Given the description of an element on the screen output the (x, y) to click on. 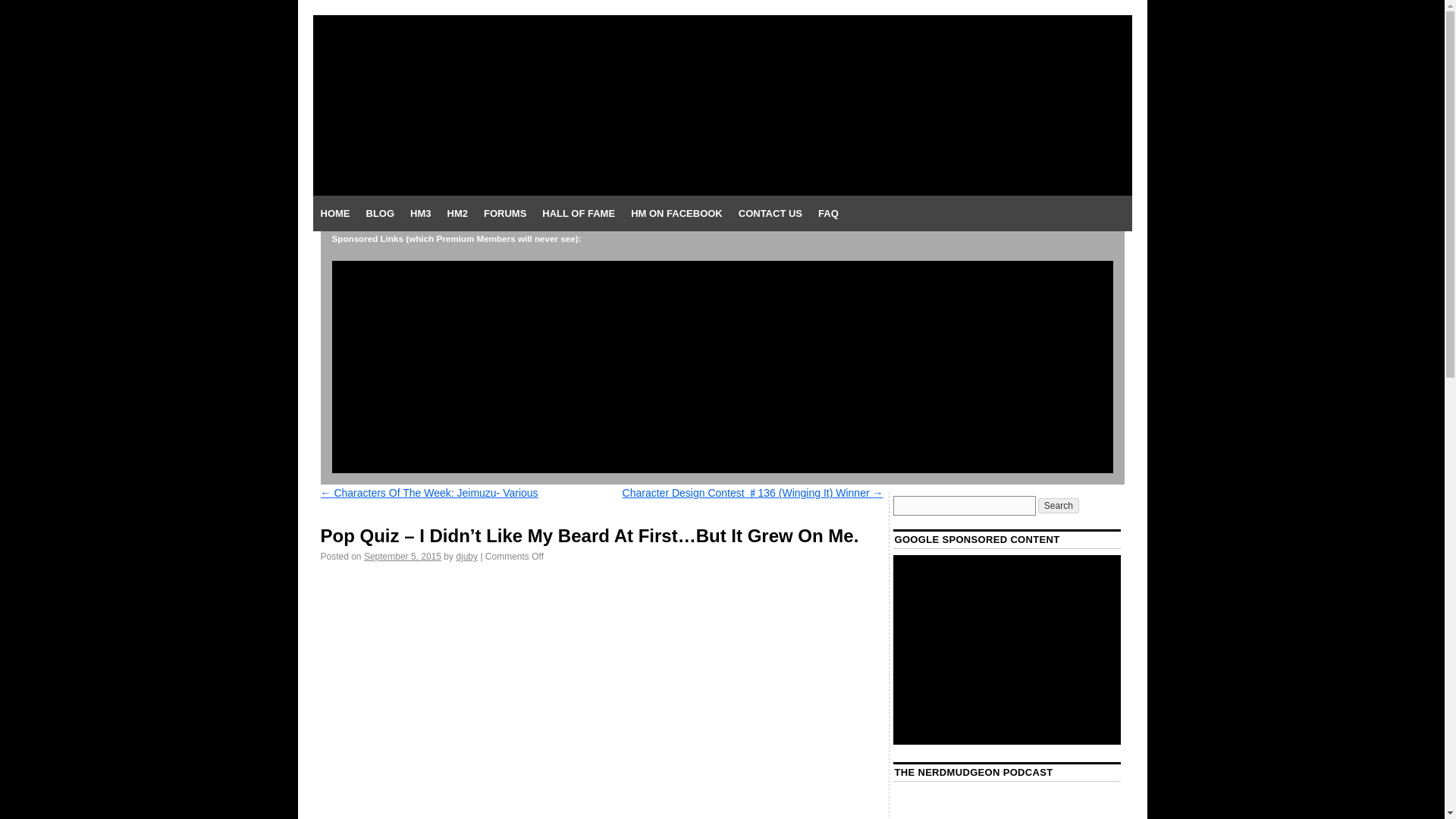
BLOG (379, 213)
CONTACT US (769, 213)
Advertisement (1007, 649)
HM3 (420, 213)
HOME (334, 213)
View all posts by djuby (466, 556)
HALL OF FAME (578, 213)
September 5, 2015 (402, 556)
3:00 am (402, 556)
